Given the description of an element on the screen output the (x, y) to click on. 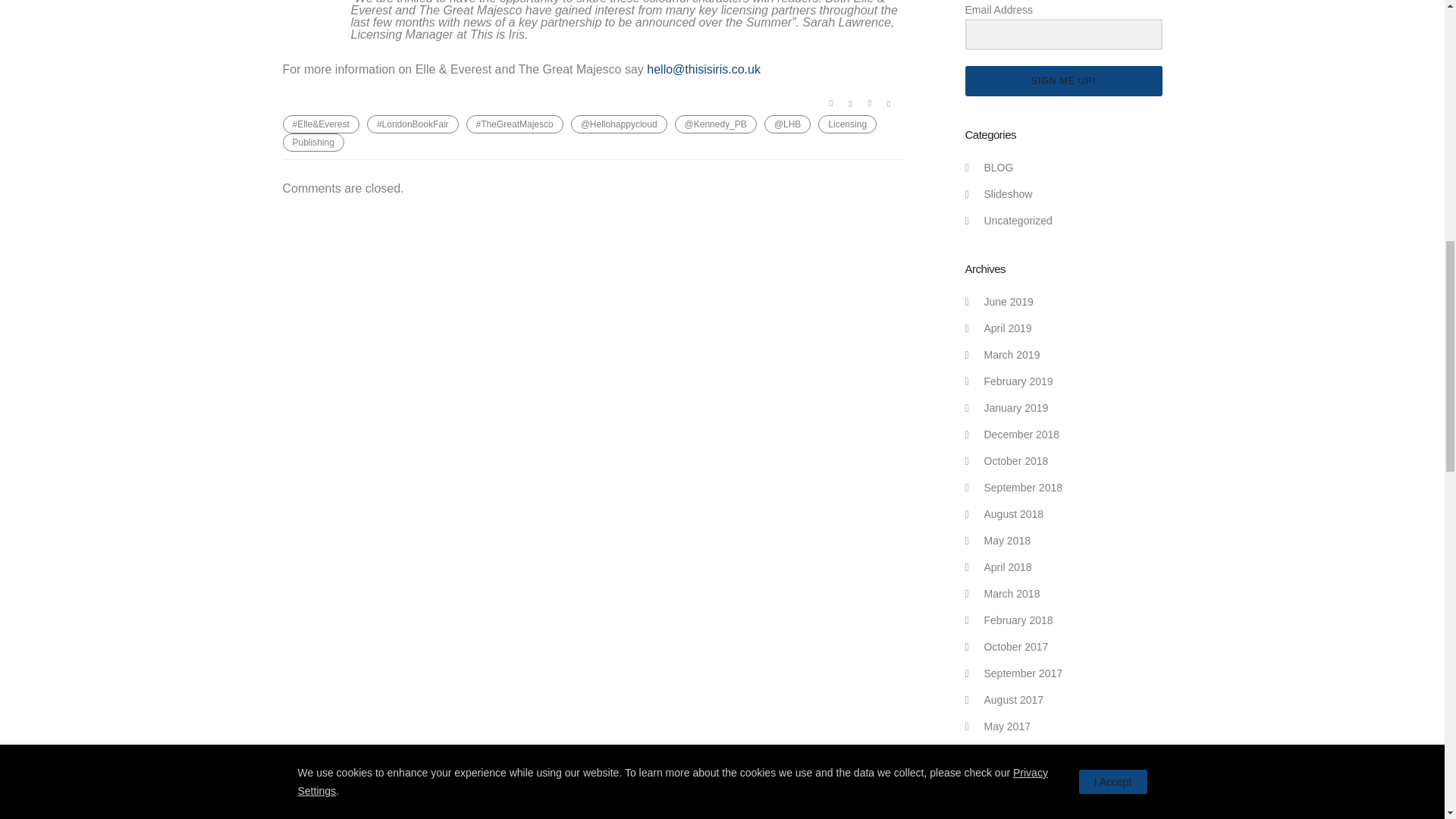
Licensing (847, 124)
BLOG (998, 167)
SIGN ME UP! (1062, 81)
Publishing (312, 142)
